Given the description of an element on the screen output the (x, y) to click on. 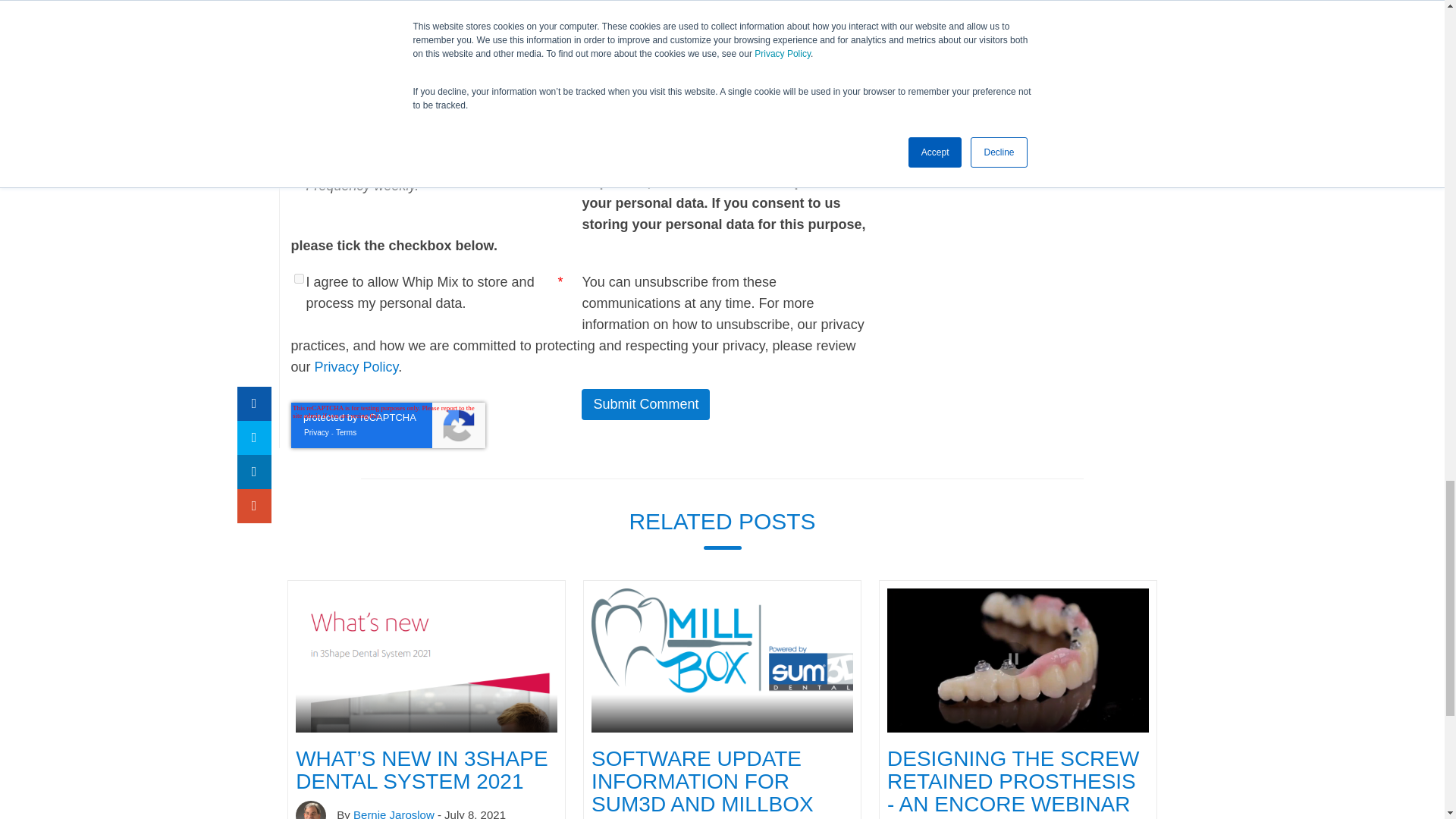
Submit Comment (645, 404)
Submit Comment (645, 404)
Privacy Policy (356, 366)
reCAPTCHA (387, 424)
true (299, 161)
true (299, 278)
Bernie Jaroslow (393, 813)
